Given the description of an element on the screen output the (x, y) to click on. 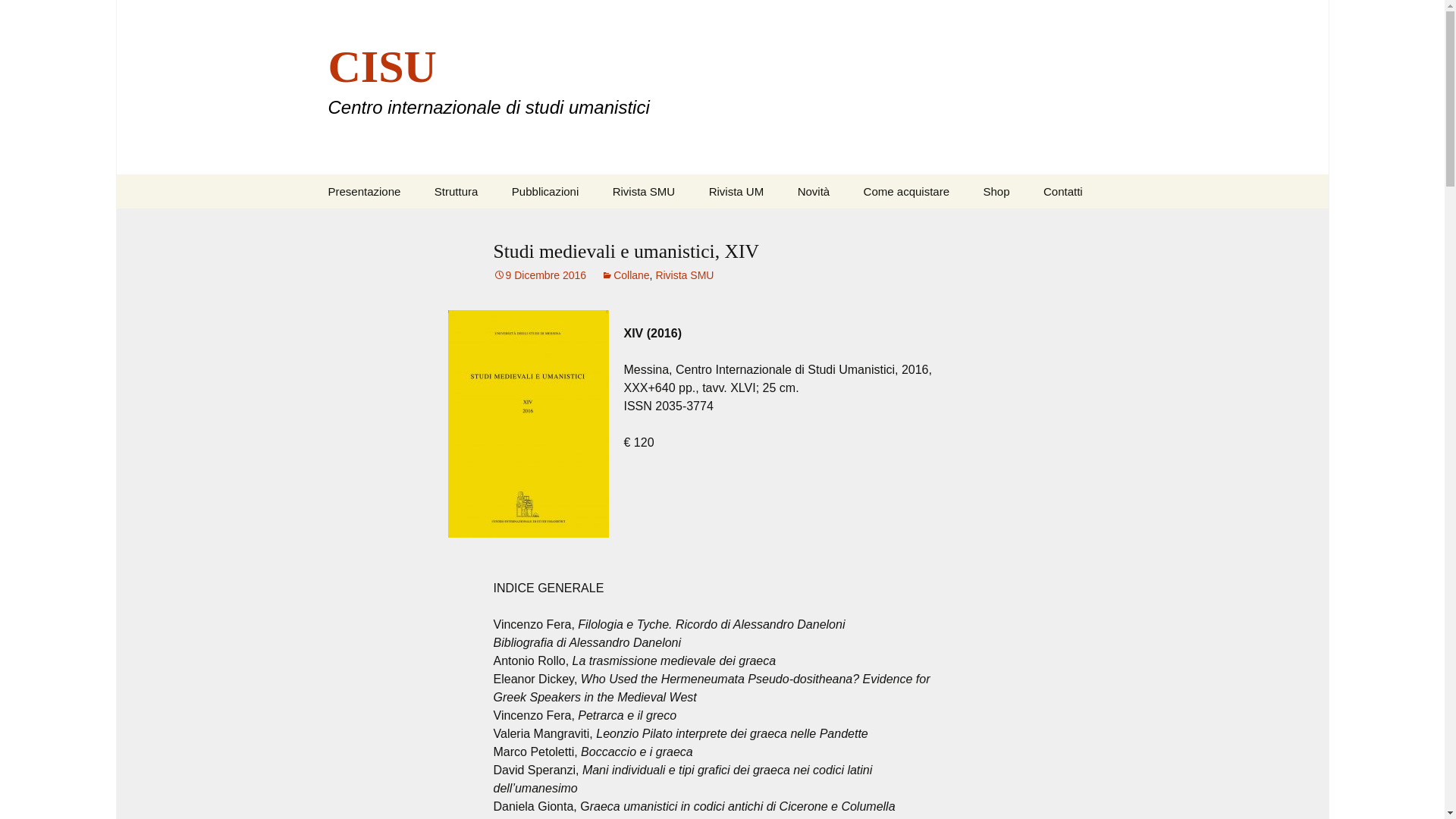
Permalink a Studi medievali e umanistici, XIV (539, 275)
Codice etico (736, 191)
Collane (672, 225)
9 Dicembre 2016 (625, 275)
Rivista SMU (539, 275)
Contatti (684, 275)
Codice etico (1062, 191)
Presentazione (769, 225)
Rivista SMU (363, 191)
Cerca (643, 191)
Progetto Tradizioni e fortuna dei classici (18, 15)
Struttura (388, 230)
